Given the description of an element on the screen output the (x, y) to click on. 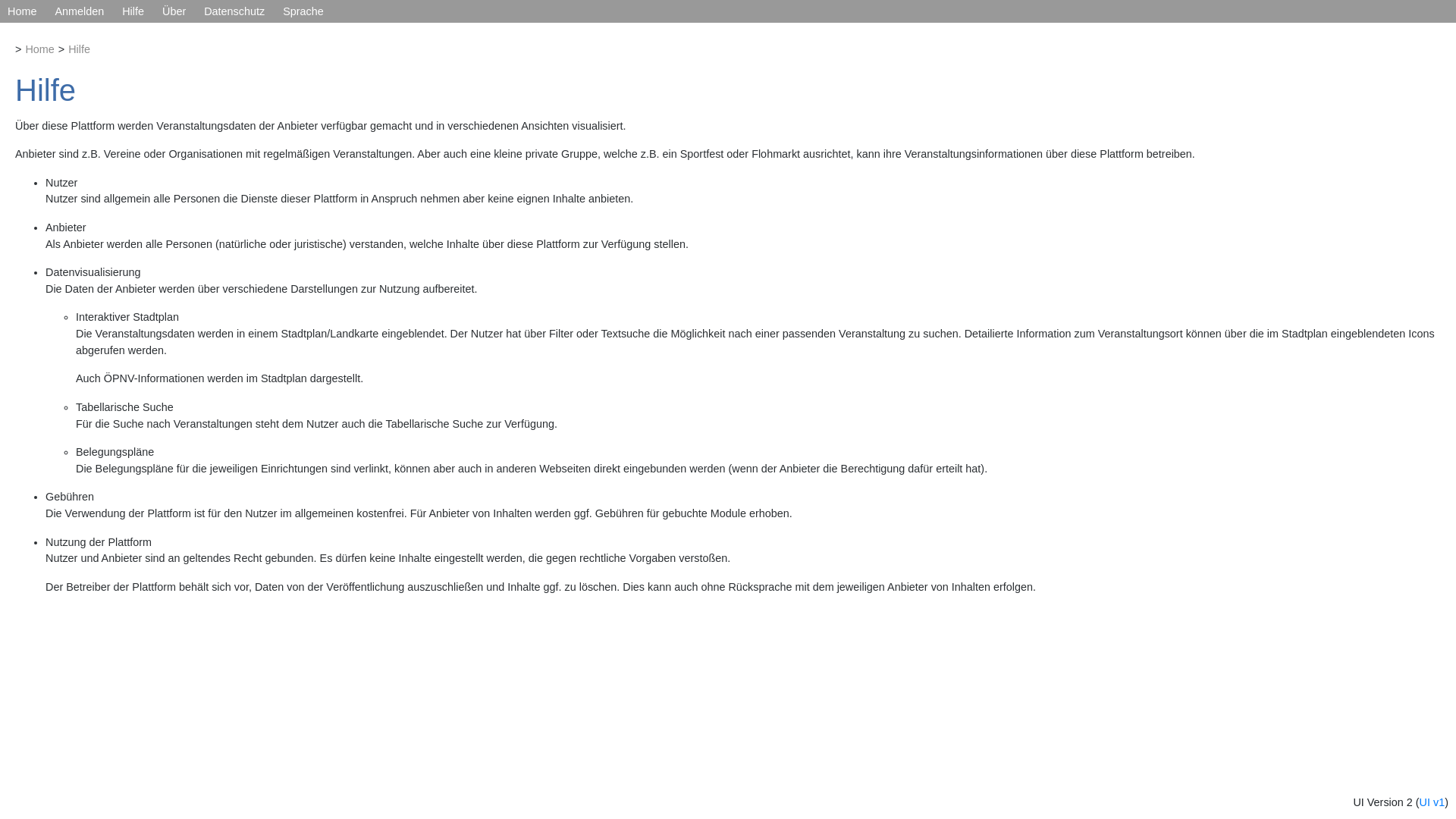
Home (21, 10)
Home (39, 49)
Hilfe (79, 49)
Datenschutz (233, 10)
Hilfe (133, 10)
Anmelden (79, 10)
